Given the description of an element on the screen output the (x, y) to click on. 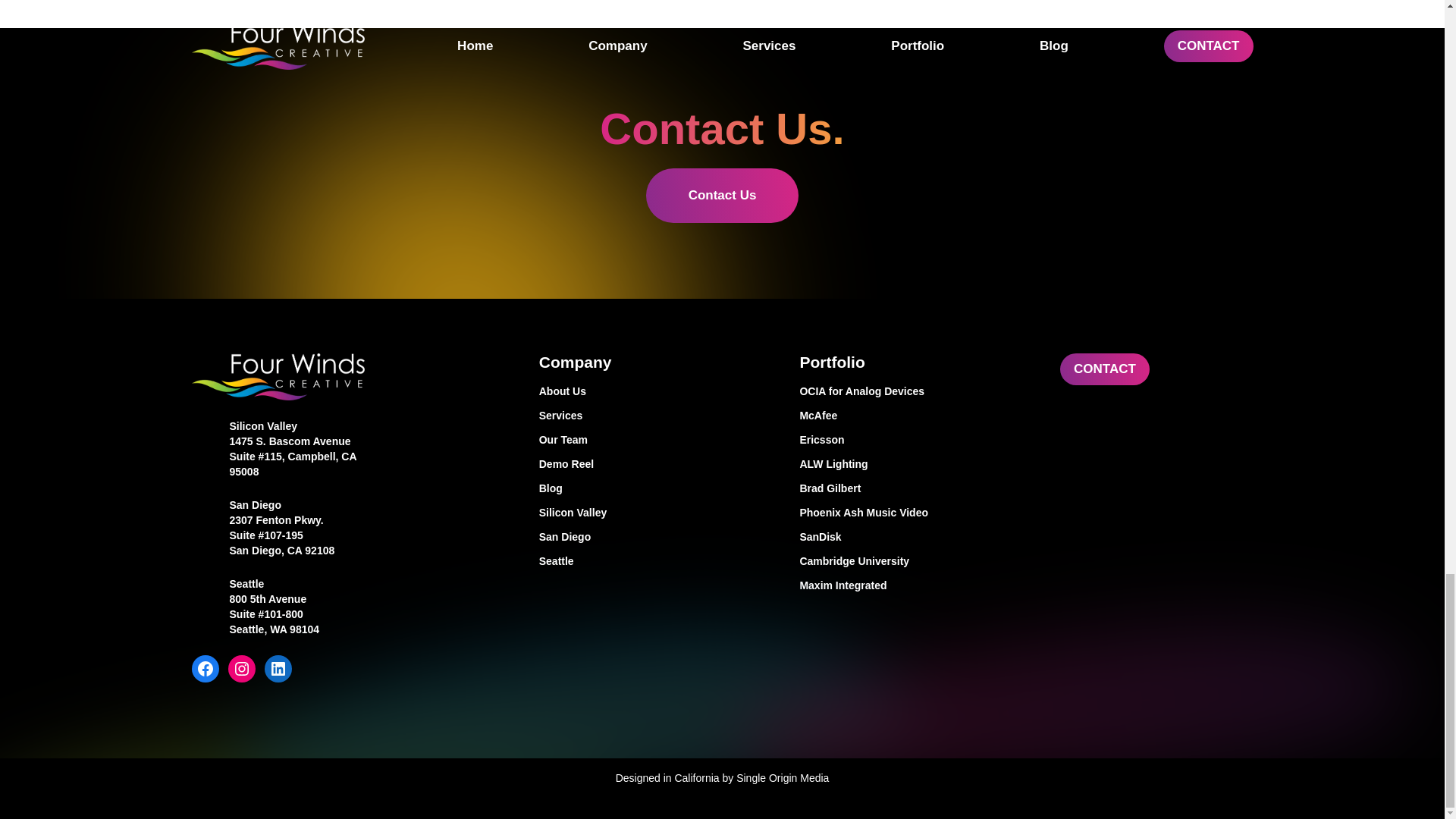
Silicon Valley (657, 512)
Ericsson (917, 439)
Contact Us (722, 195)
Blog (657, 488)
Seattle (245, 583)
San Diego (254, 504)
San Diego (657, 536)
Services (657, 415)
ALW Lighting (917, 463)
Silicon Valley (262, 426)
